Given the description of an element on the screen output the (x, y) to click on. 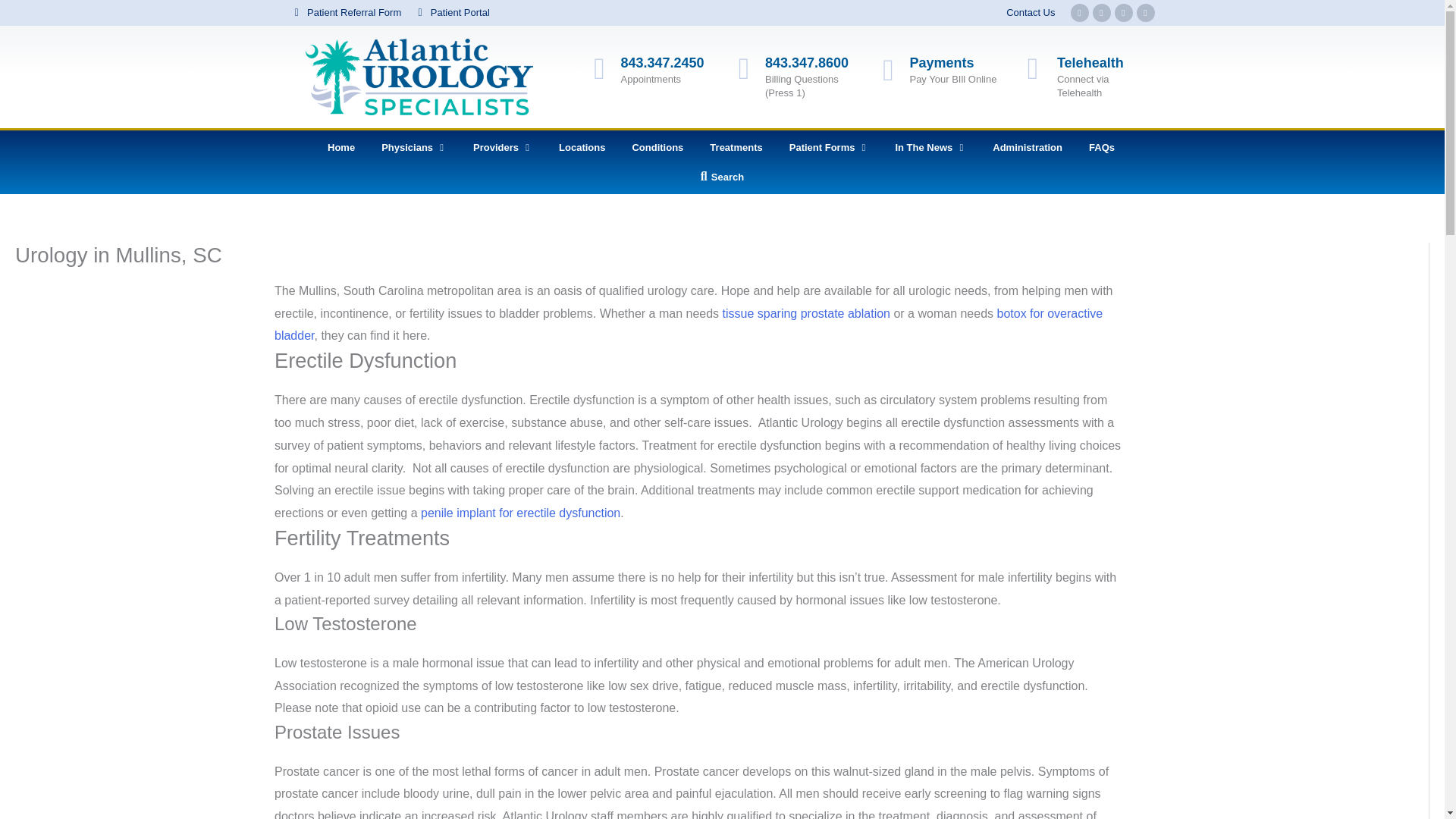
FAQs (1102, 147)
Providers (495, 147)
Telehealth (1090, 62)
In The News (923, 147)
Facebook-f (1079, 13)
Twitter (1100, 13)
Administration (1027, 147)
Treatments (735, 147)
Patient Portal (451, 13)
Contact Us (1030, 13)
Payments (941, 62)
Search (722, 177)
Linkedin-in (1144, 13)
Locations (582, 147)
Home (341, 147)
